Given the description of an element on the screen output the (x, y) to click on. 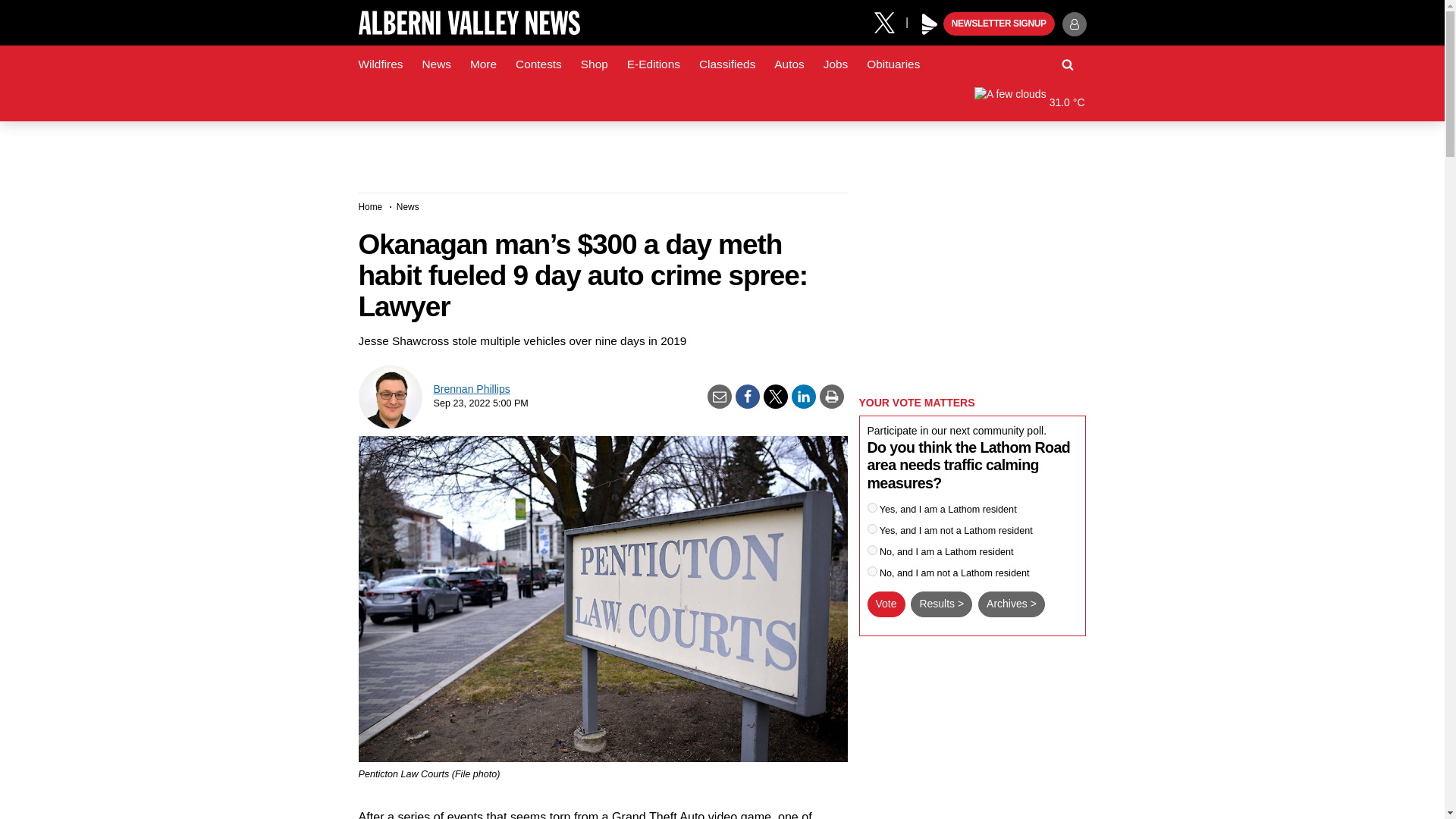
248 (872, 550)
249 (872, 571)
Play (929, 24)
News (435, 64)
Wildfires (380, 64)
Black Press Media (929, 24)
X (889, 21)
246 (872, 507)
247 (872, 528)
NEWSLETTER SIGNUP (998, 24)
